Given the description of an element on the screen output the (x, y) to click on. 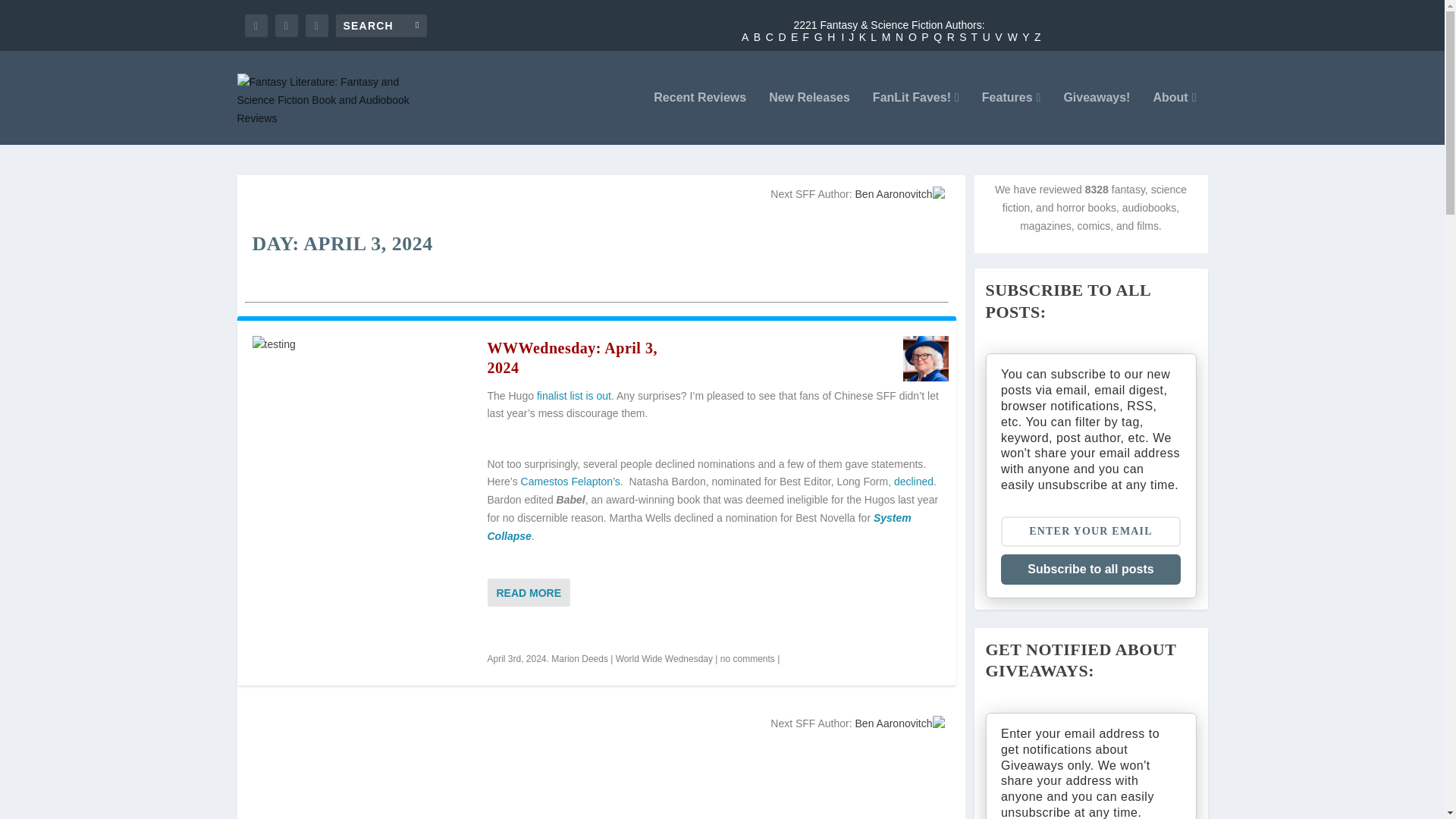
FanLit Faves! (915, 117)
Posts by Marion Deeds (579, 658)
Search for: (380, 24)
